Given the description of an element on the screen output the (x, y) to click on. 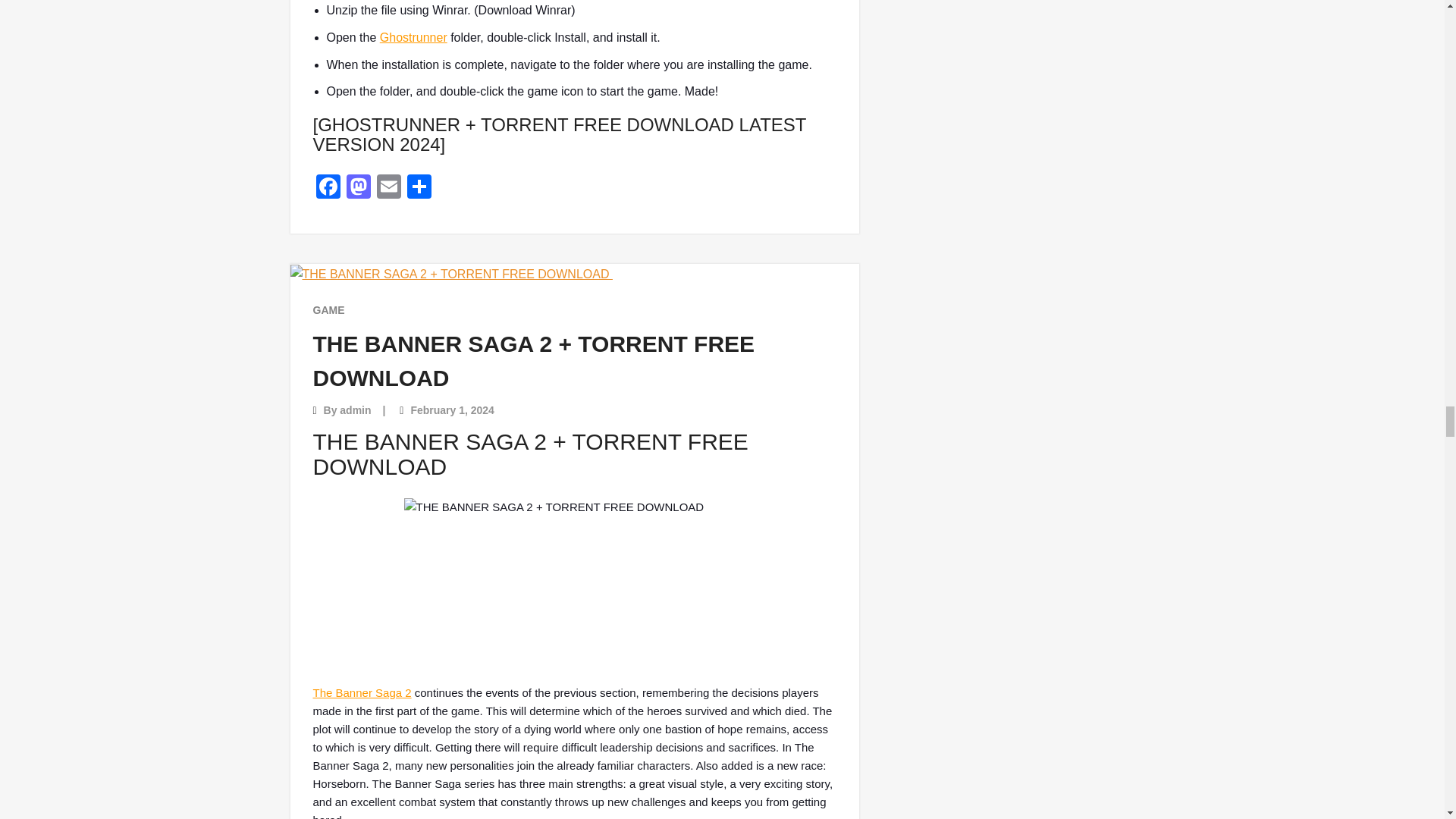
Email (387, 188)
Facebook (327, 188)
Mastodon (357, 188)
